Given the description of an element on the screen output the (x, y) to click on. 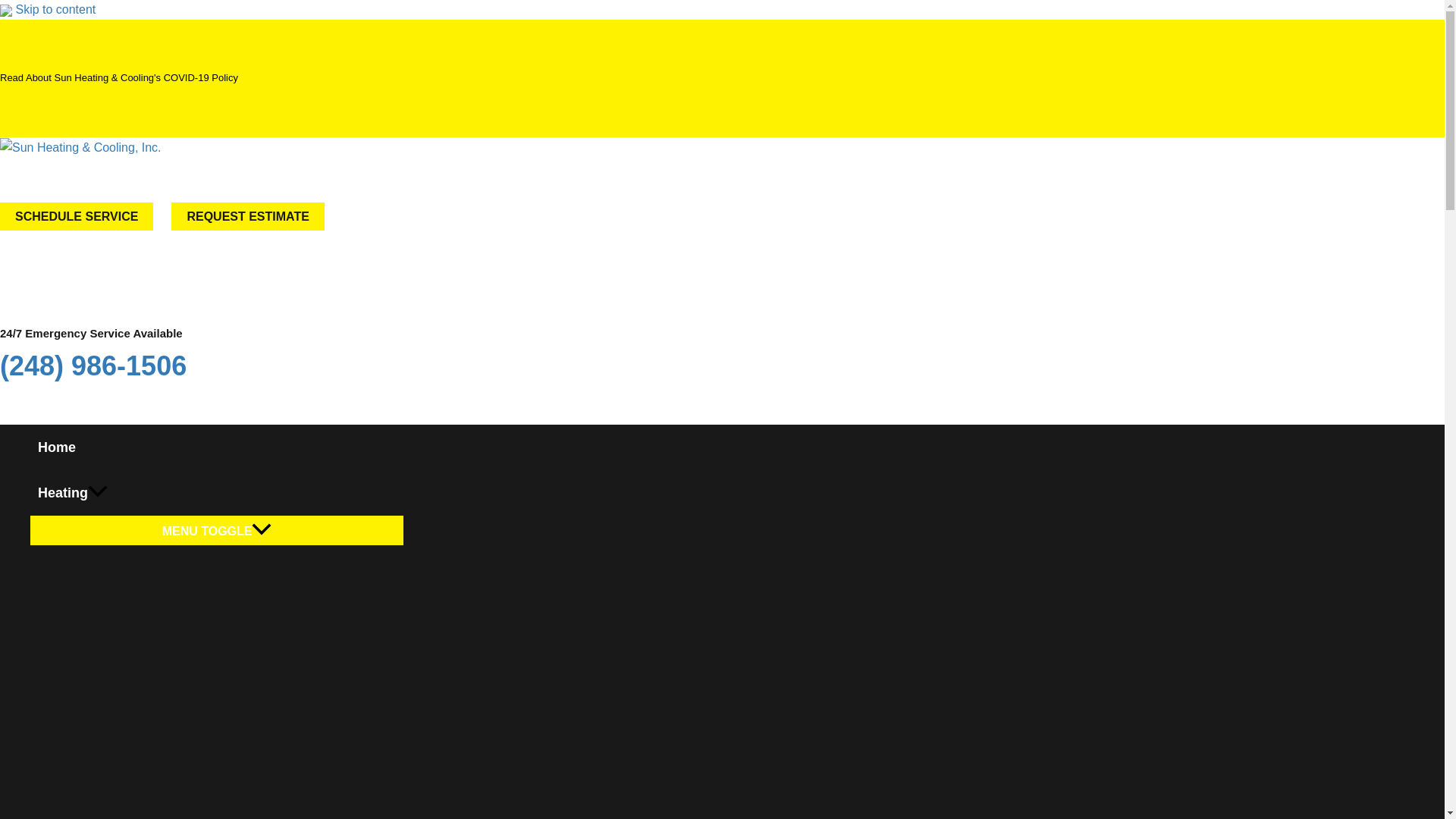
Home (216, 447)
SCHEDULE SERVICE (76, 216)
REQUEST ESTIMATE (247, 216)
Heating (216, 492)
MENU TOGGLE (216, 530)
Skip to content (55, 9)
